Given the description of an element on the screen output the (x, y) to click on. 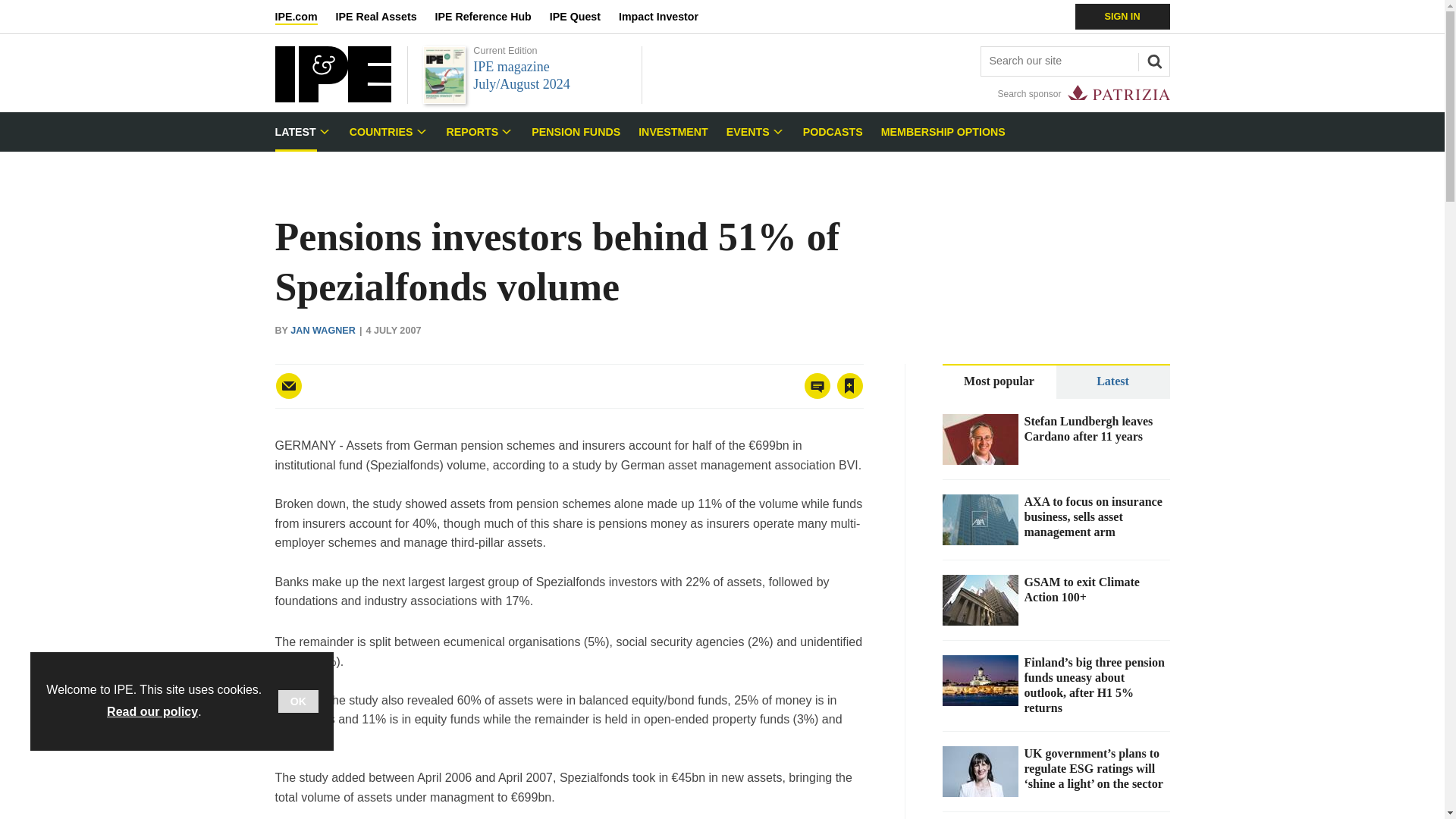
Impact Investor (667, 16)
IPE (332, 97)
Impact Investor (667, 16)
IPE Quest (583, 16)
SEARCH (1152, 59)
Read our policy (152, 711)
IPE Reference Hub (491, 16)
IPE Real Assets (384, 16)
IPE Reference Hub (491, 16)
IPE Real Assets (384, 16)
